Given the description of an element on the screen output the (x, y) to click on. 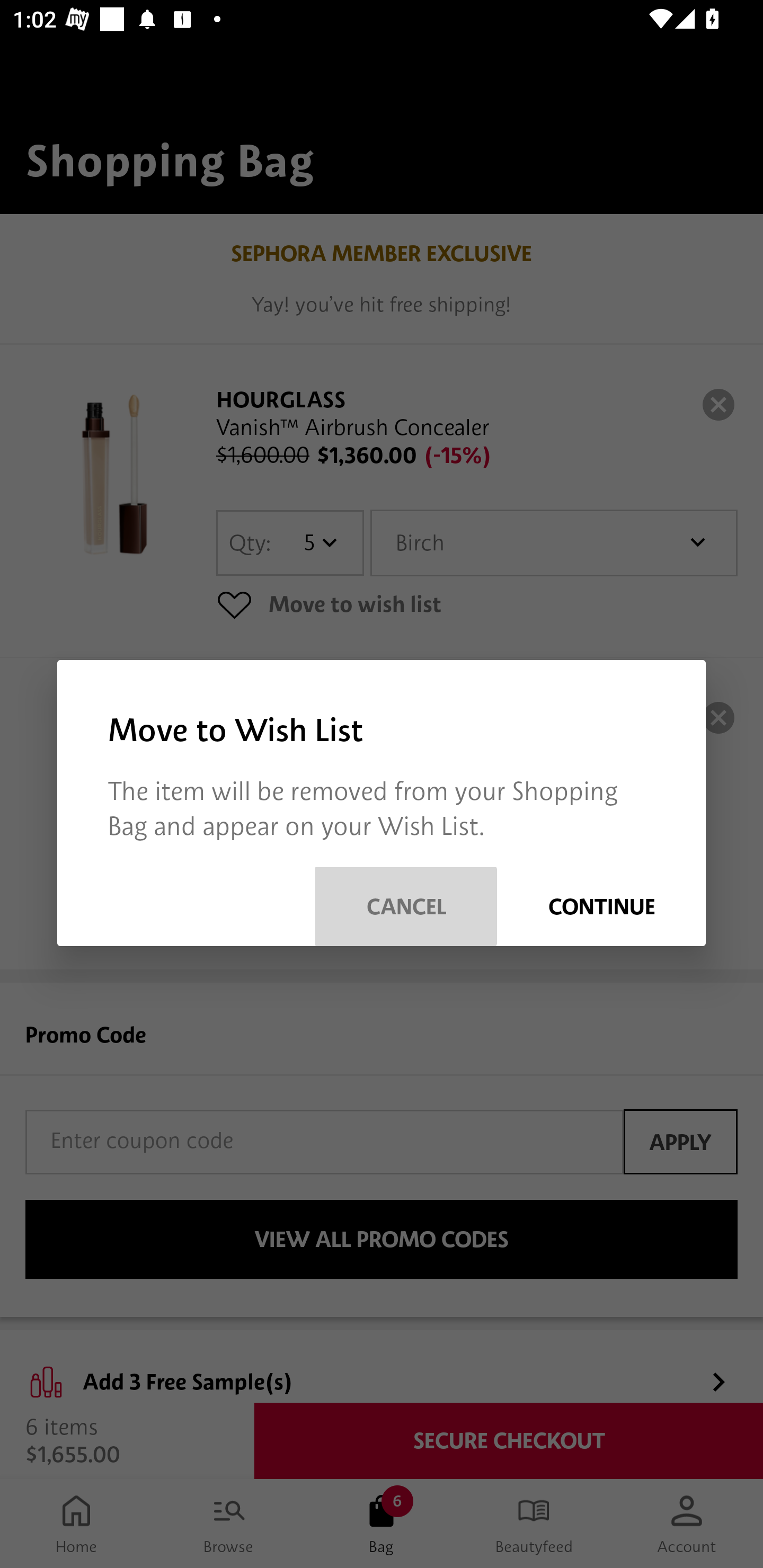
CANCEL (405, 906)
CONTINUE (600, 906)
